Given the description of an element on the screen output the (x, y) to click on. 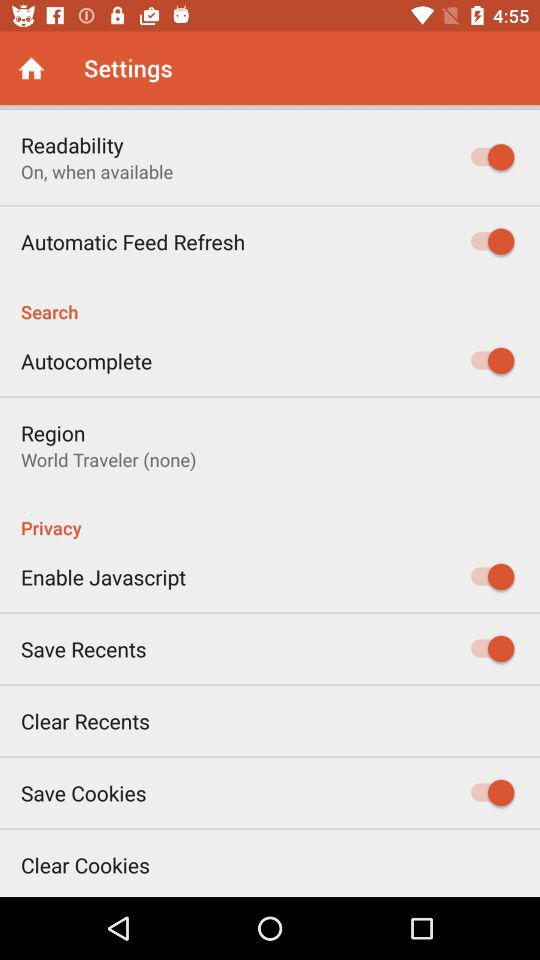
home screen (31, 68)
